Given the description of an element on the screen output the (x, y) to click on. 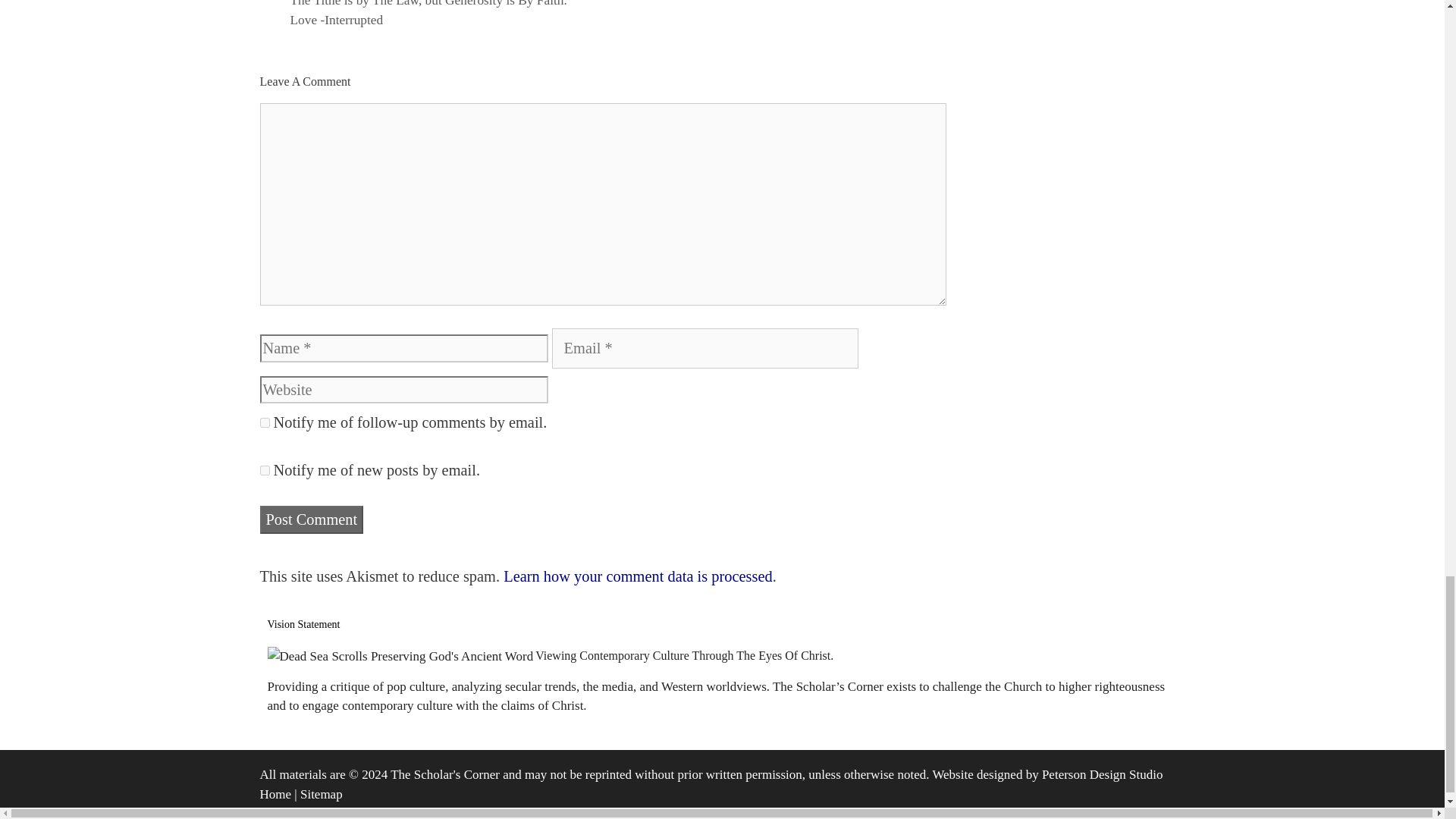
subscribe (264, 470)
Post Comment (310, 519)
subscribe (264, 422)
